Given the description of an element on the screen output the (x, y) to click on. 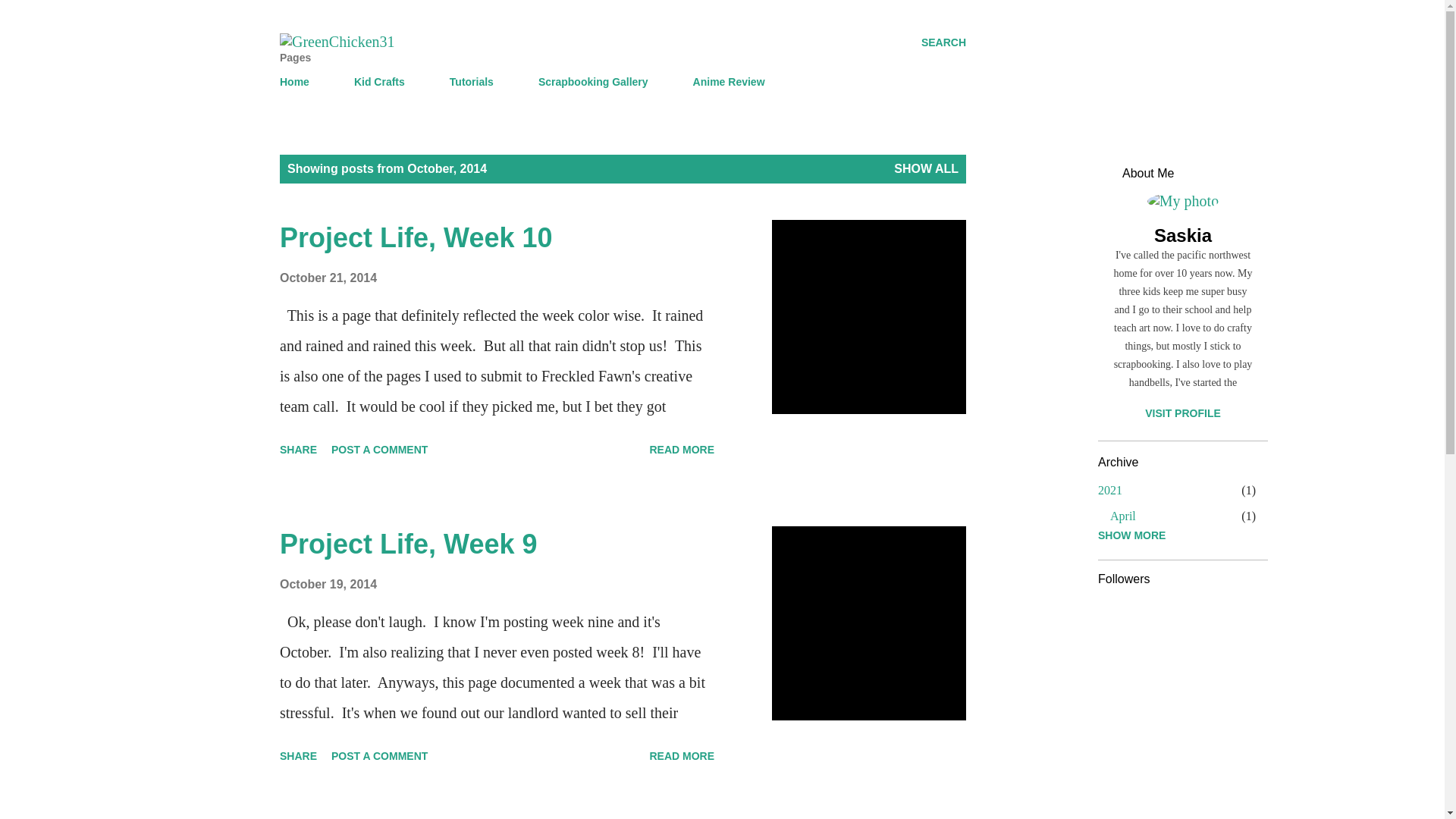
Project Life, Week 10 (681, 449)
Home (298, 81)
SEARCH (943, 42)
Scrapbooking Gallery (593, 81)
READ MORE (681, 755)
Anime Review (729, 81)
Kid Crafts (379, 81)
October 21, 2014 (328, 277)
permanent link (328, 584)
SHOW ALL (925, 169)
